Given the description of an element on the screen output the (x, y) to click on. 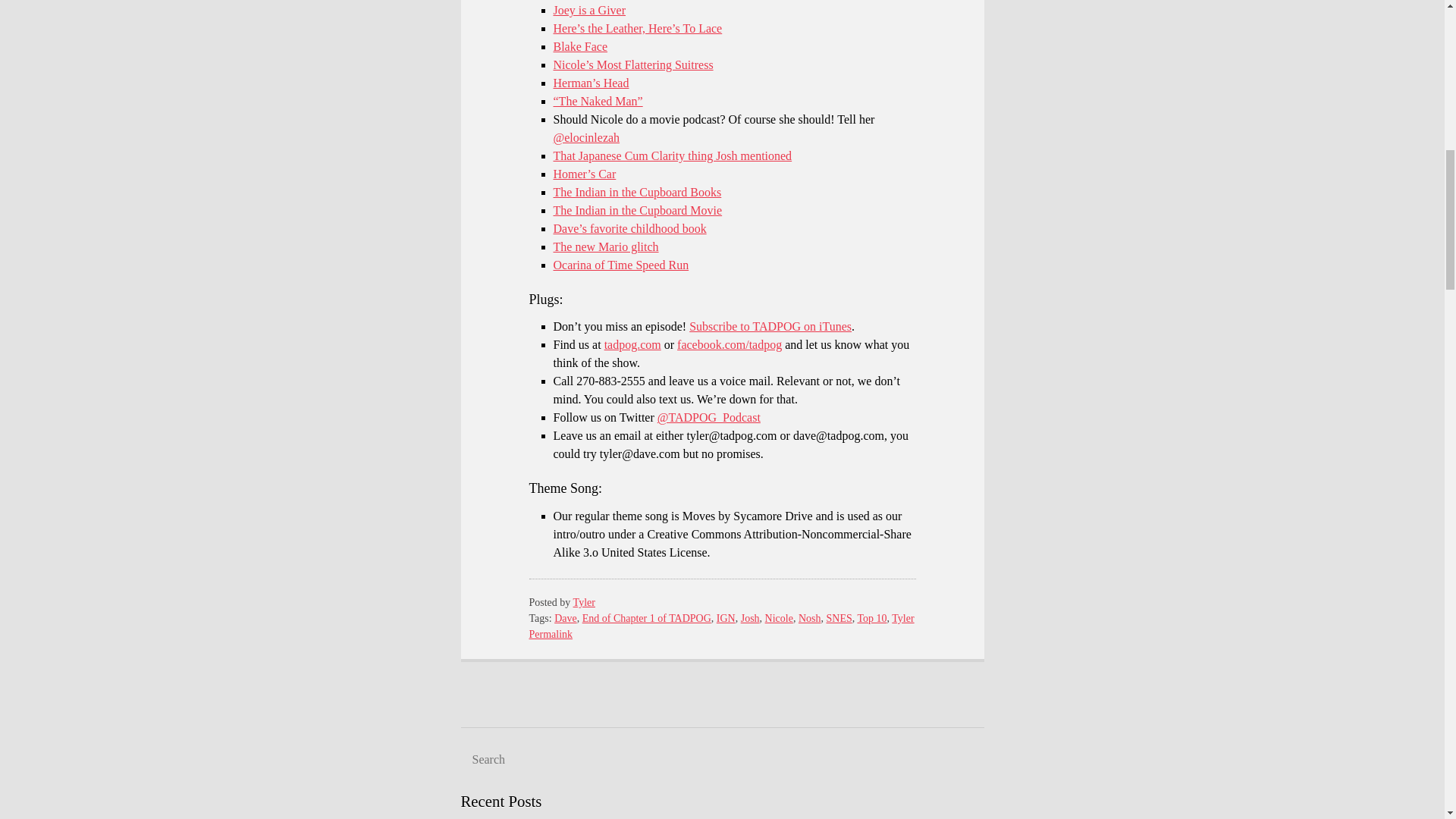
The new Mario glitch (606, 246)
Tyler (902, 618)
Nicole (779, 618)
The Indian in the Cupboard Movie (637, 210)
Joey is a Giver (589, 10)
That Japanese Cum Clarity thing Josh mentioned (672, 155)
Blake Face (580, 46)
SNES (838, 618)
IGN (725, 618)
Permalink (551, 633)
Top 10 (871, 618)
The Indian in the Cupboard Books (637, 192)
Dave (565, 618)
Ocarina of Time Speed Run (620, 264)
Subscribe to TADPOG on iTunes (769, 326)
